Given the description of an element on the screen output the (x, y) to click on. 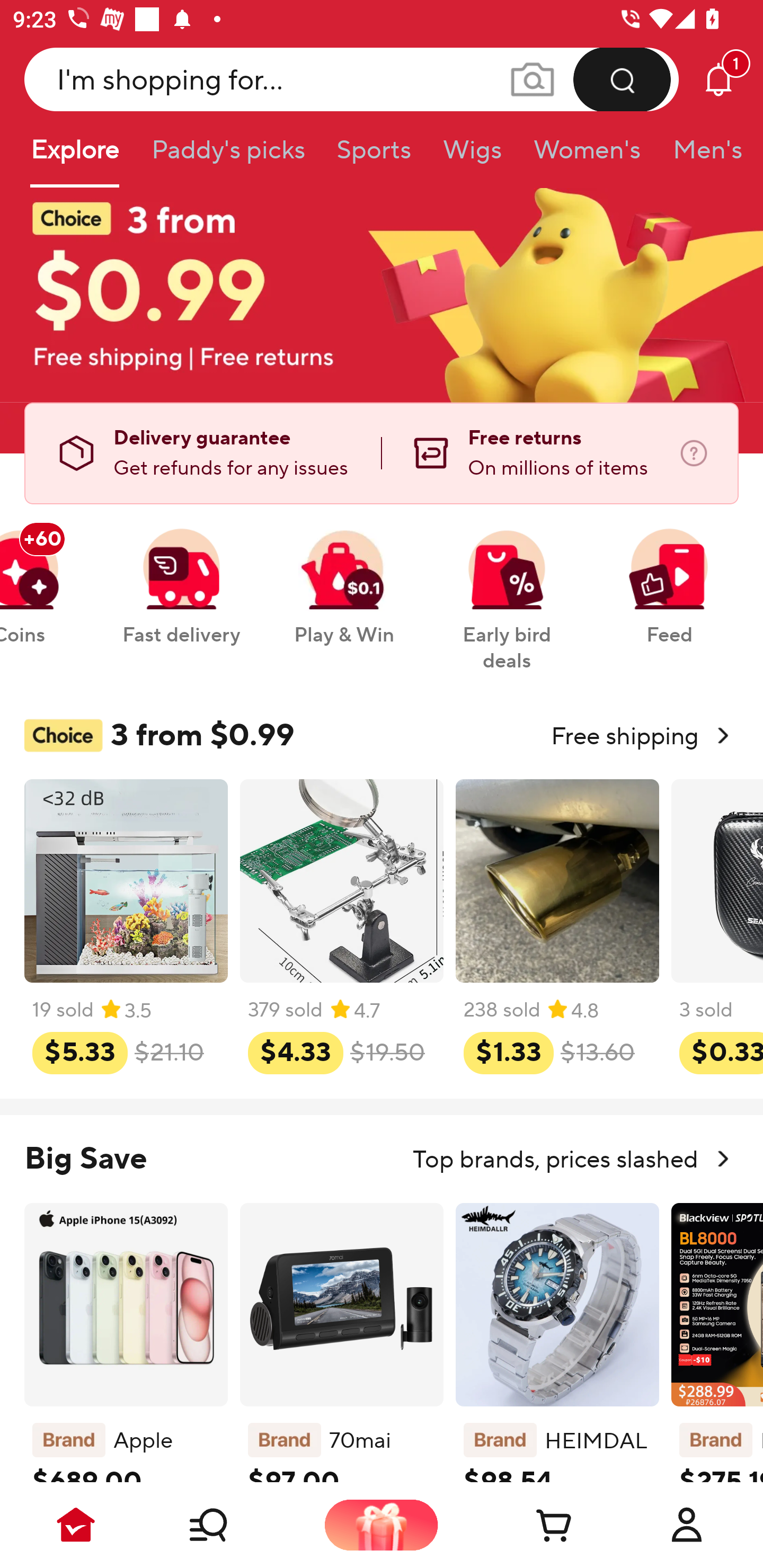
search button (621, 79)
Paddy's picks (227, 155)
Sports (373, 155)
Wigs (472, 155)
Women's (586, 155)
Men's (701, 155)
Coinsbutton +60 Coins (43, 576)
Fast deliverybutton Fast delivery (181, 576)
Play & Winbutton Play & Win (343, 576)
Early bird dealsbutton Early bird deals (506, 589)
Feedbutton Feed (669, 576)
Shop (228, 1524)
Cart (533, 1524)
Account (686, 1524)
